Given the description of an element on the screen output the (x, y) to click on. 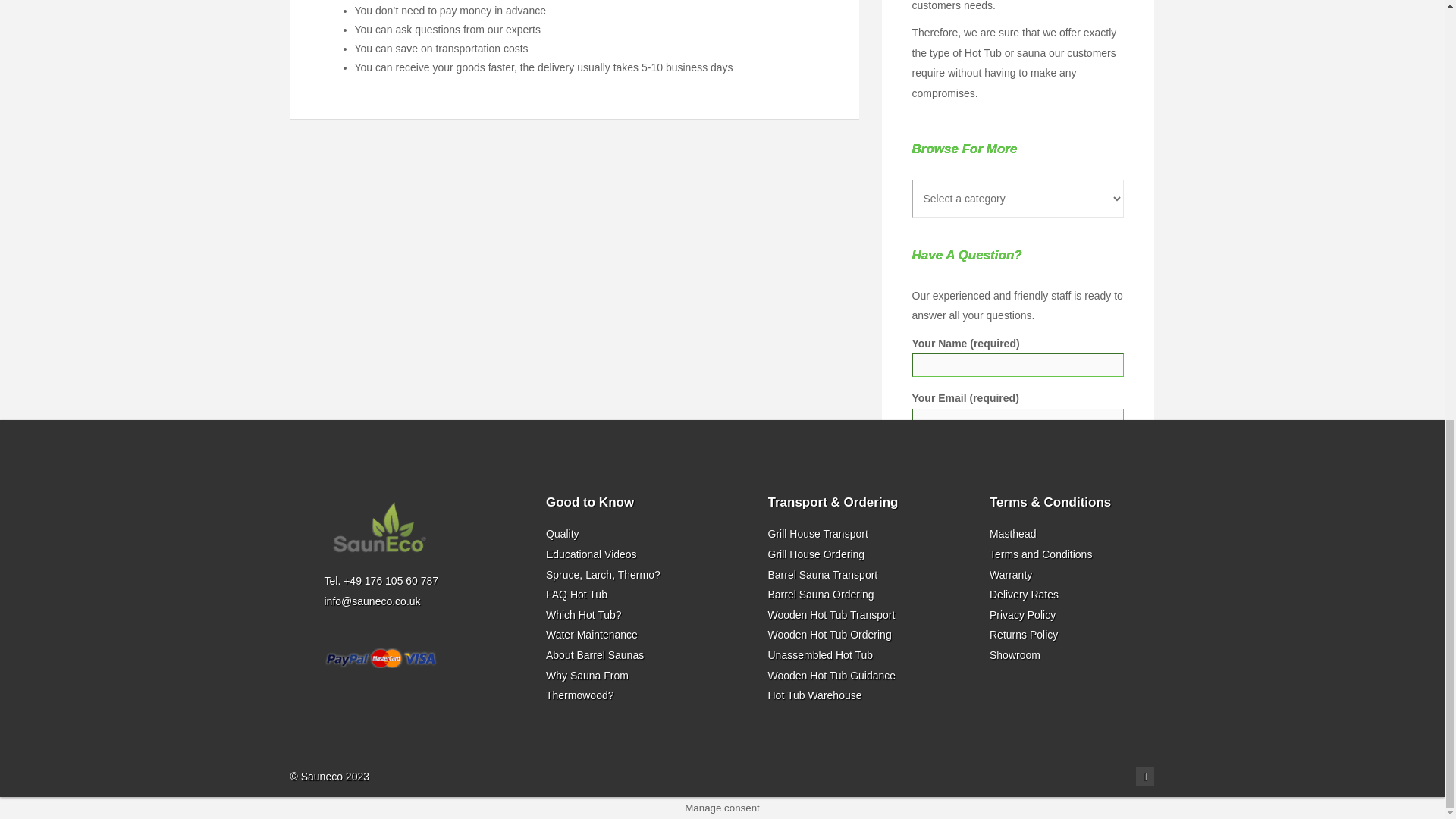
Educational Videos (591, 553)
Spruce, Larch, Thermo? (603, 574)
Send (940, 703)
Wooden Hot Tub Transport (831, 614)
Unassembled Hot Tub (819, 654)
Send (940, 703)
Grill House Transport (817, 533)
Barrel Sauna Ordering (820, 594)
email (1144, 776)
Wooden Hot Tub Guidance (831, 675)
Water Maintenance (591, 634)
Which Hot Tub? (583, 614)
Hot Tub Warehouse (814, 695)
Grill House Ordering (815, 553)
FAQ Hot Tub (576, 594)
